Given the description of an element on the screen output the (x, y) to click on. 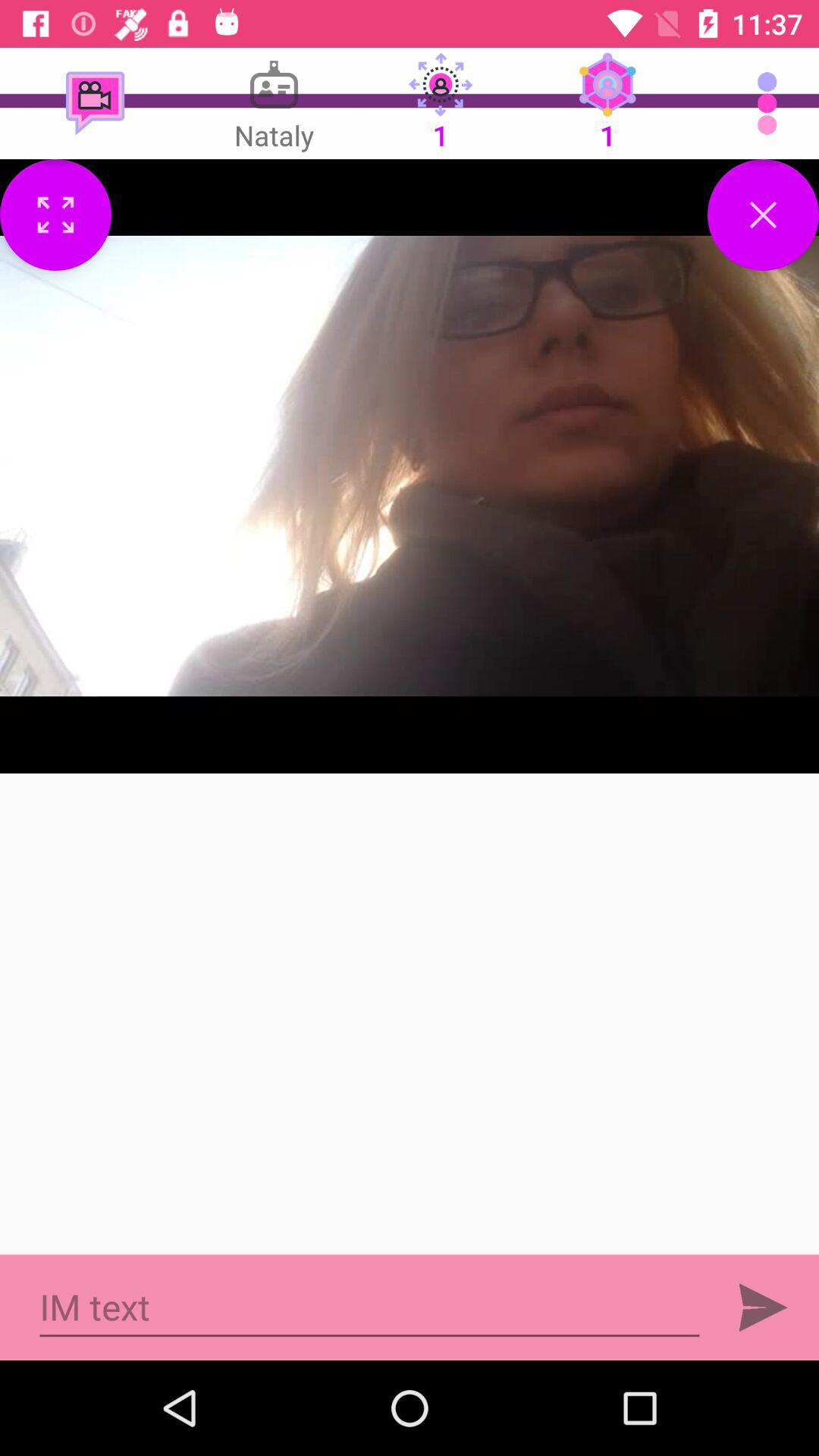
forward (763, 1307)
